Given the description of an element on the screen output the (x, y) to click on. 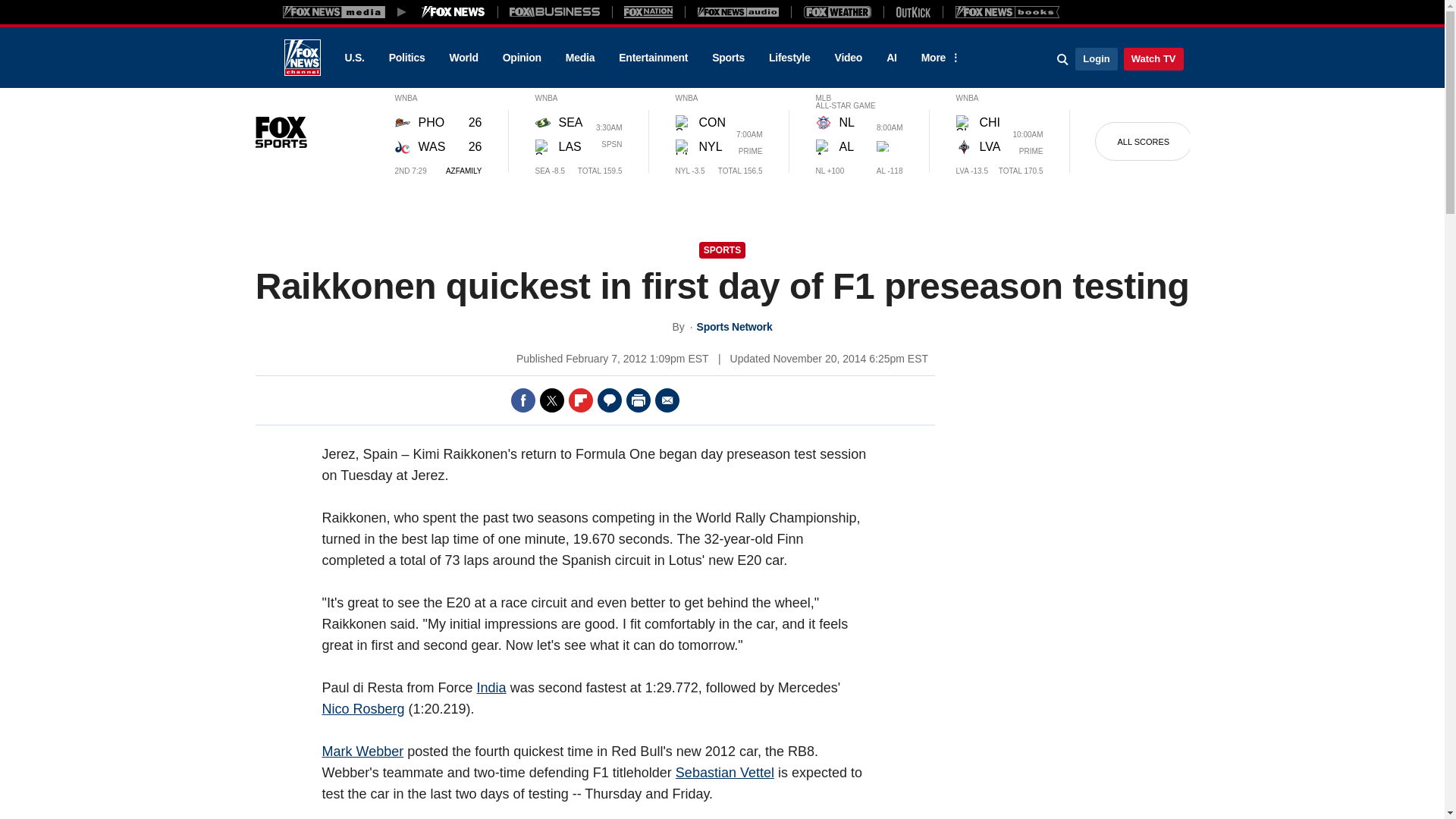
Media (580, 57)
U.S. (353, 57)
More (938, 57)
AI (891, 57)
Politics (407, 57)
Login (1095, 58)
Watch TV (1153, 58)
Fox Business (554, 11)
Outkick (912, 11)
Fox Nation (648, 11)
Sports (728, 57)
Video (848, 57)
Opinion (521, 57)
Books (1007, 11)
Fox News (301, 57)
